Given the description of an element on the screen output the (x, y) to click on. 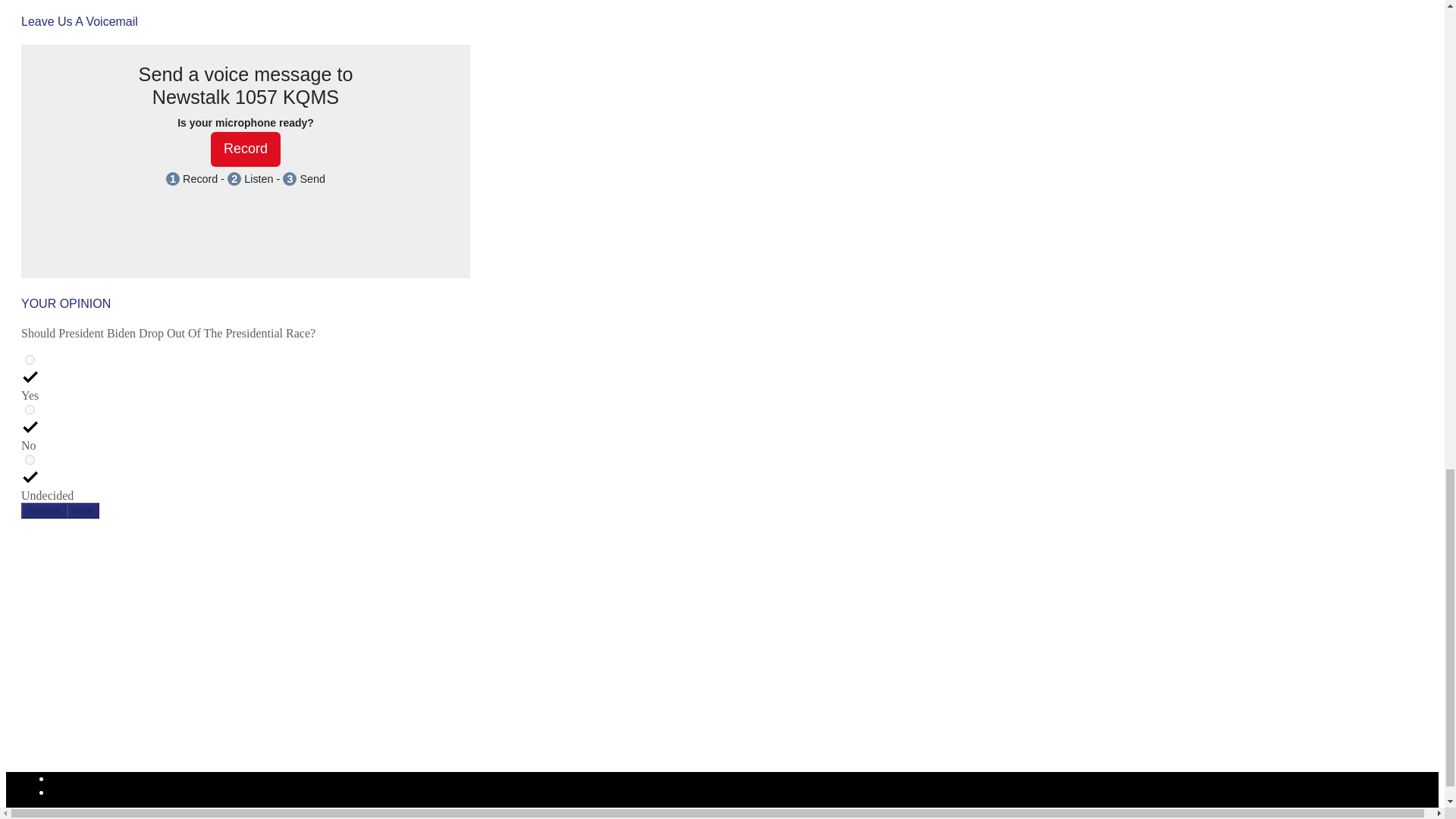
2c9f49f3-ea7b-42fb-bed4-af0c87d5edaf (29, 409)
Results (43, 510)
b6ebb02e-6120-4941-9feb-c684e55931b5 (29, 460)
a40691de-1dd7-48ba-a319-10d980254a6b (29, 359)
Vote (82, 510)
